Given the description of an element on the screen output the (x, y) to click on. 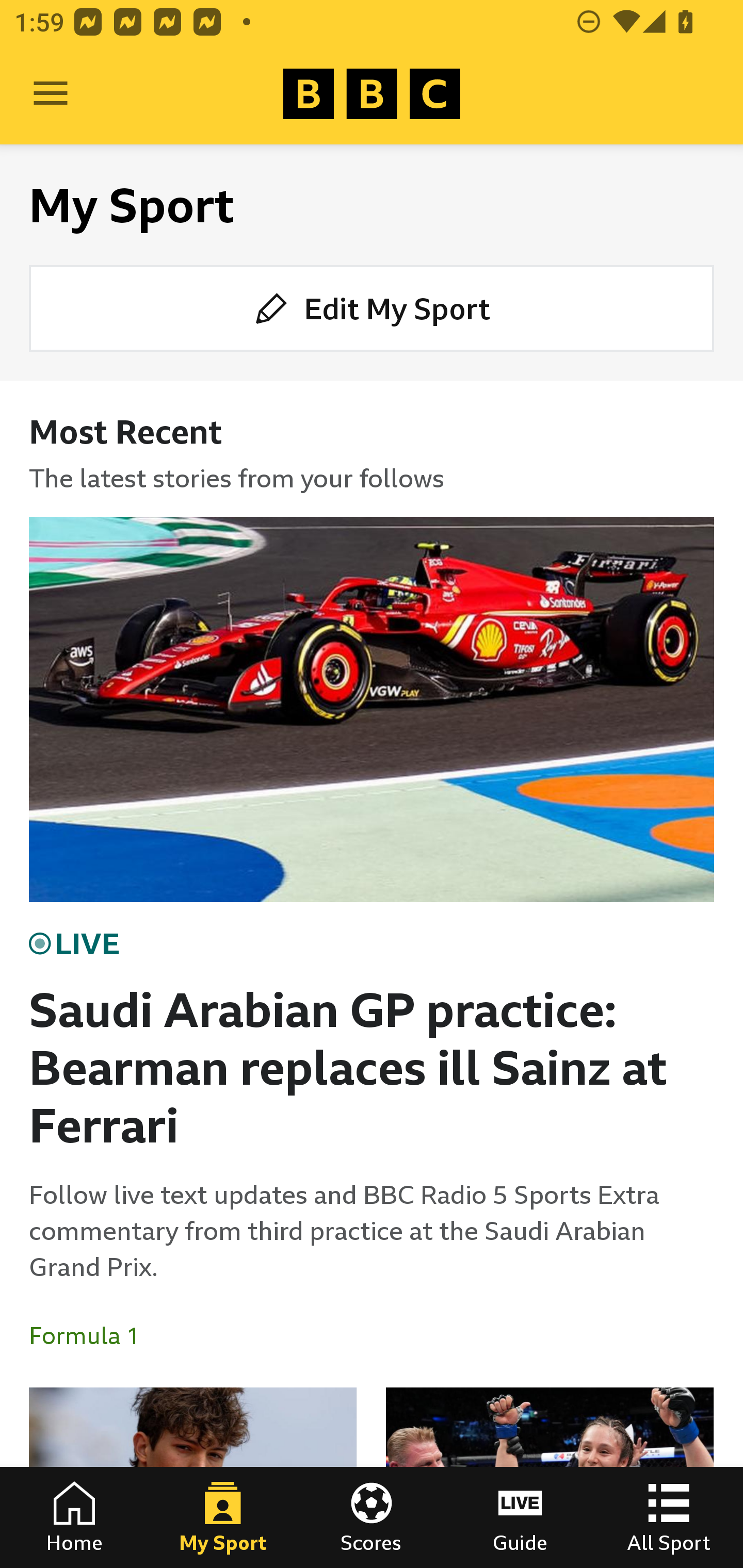
Open Menu (50, 93)
Edit My Sport (371, 307)
Home (74, 1517)
Scores (371, 1517)
Guide (519, 1517)
All Sport (668, 1517)
